Given the description of an element on the screen output the (x, y) to click on. 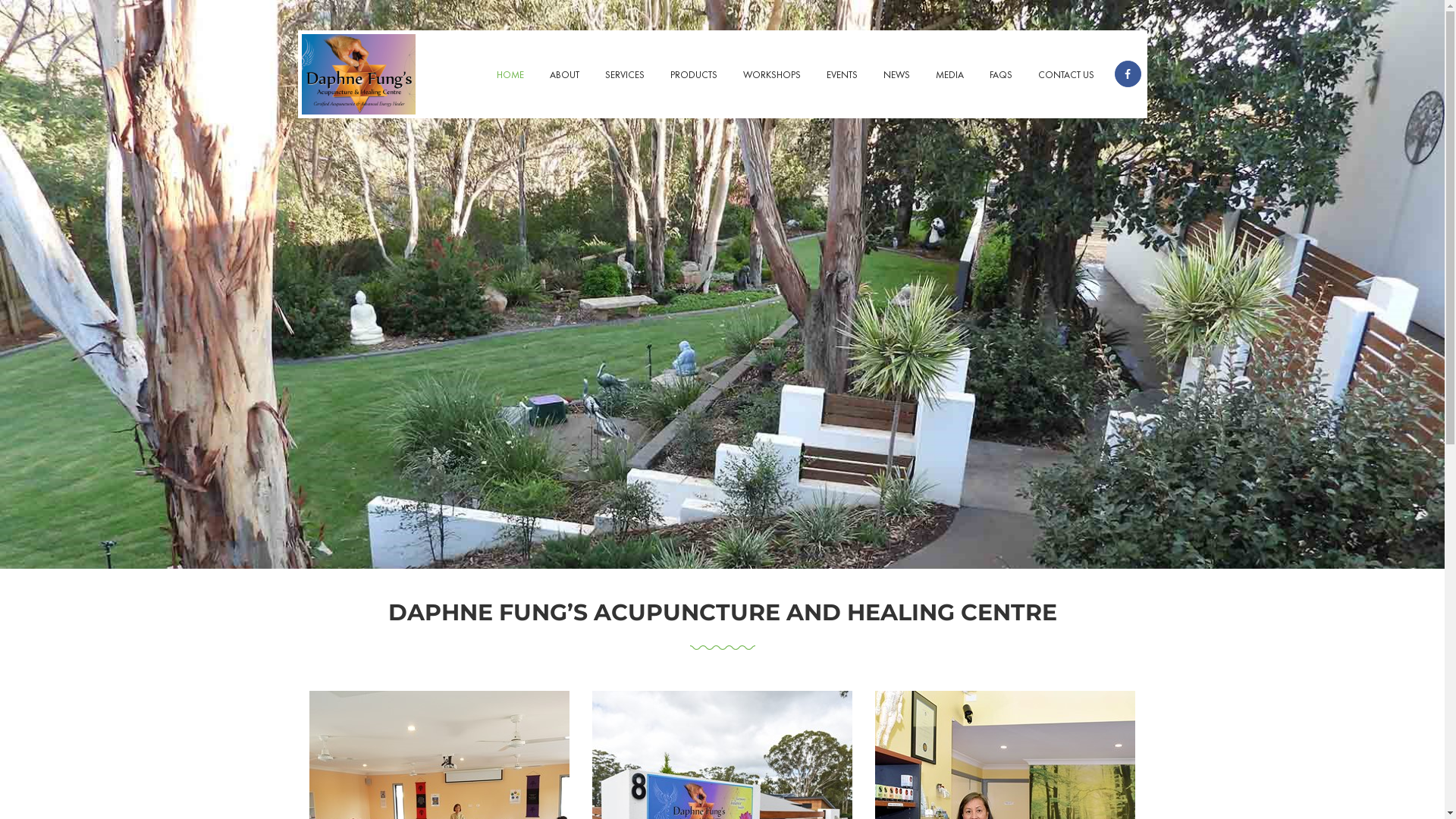
SERVICES Element type: text (624, 75)
WORKSHOPS Element type: text (771, 75)
NEWS Element type: text (896, 75)
FAQS Element type: text (1000, 75)
HOME Element type: text (510, 75)
MEDIA Element type: text (948, 75)
EVENTS Element type: text (841, 75)
CONTACT US Element type: text (1065, 75)
ABOUT Element type: text (564, 75)
PRODUCTS Element type: text (693, 75)
